Given the description of an element on the screen output the (x, y) to click on. 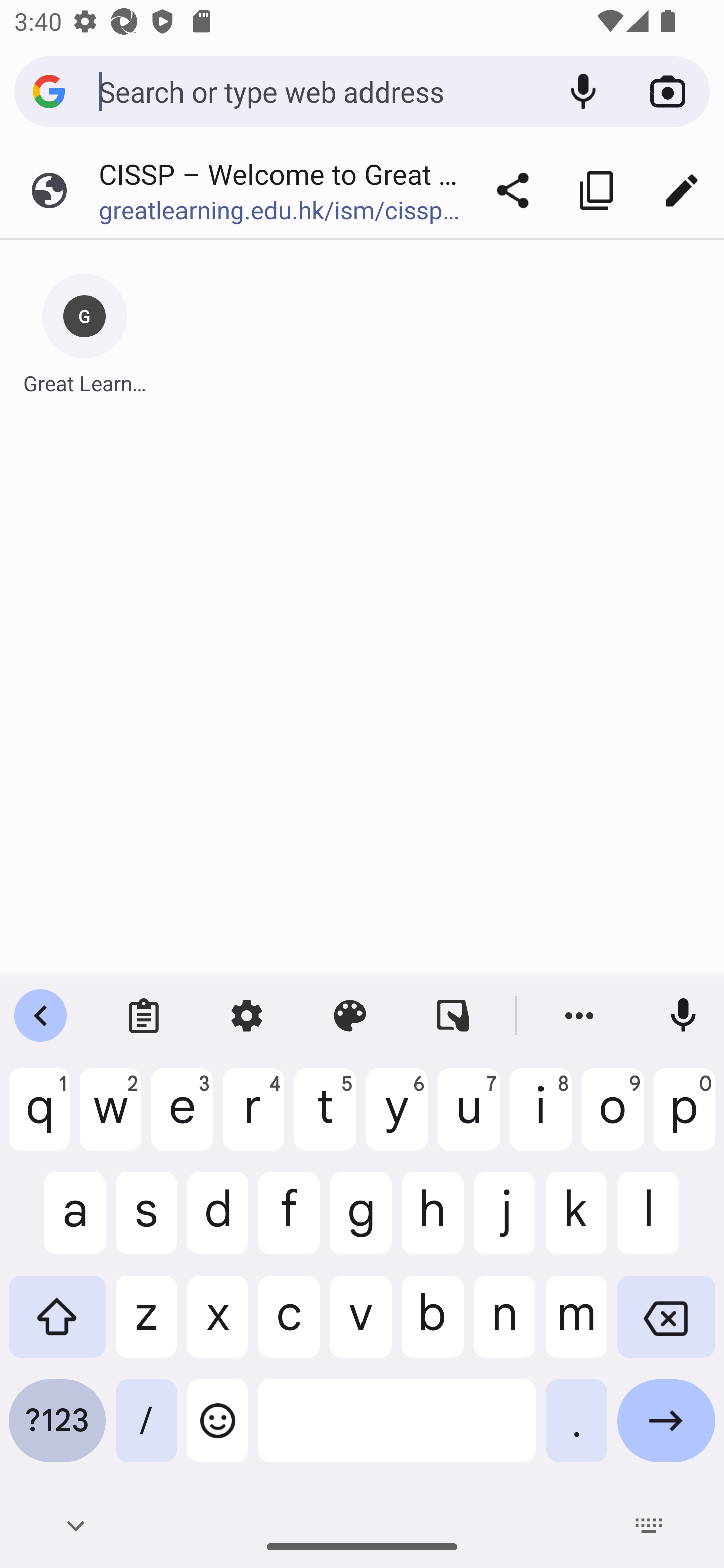
Start voice search (582, 91)
Search with your camera using Google Lens (667, 91)
Search or type web address (319, 90)
Share… (512, 190)
Copy link (597, 190)
Edit (681, 190)
